Given the description of an element on the screen output the (x, y) to click on. 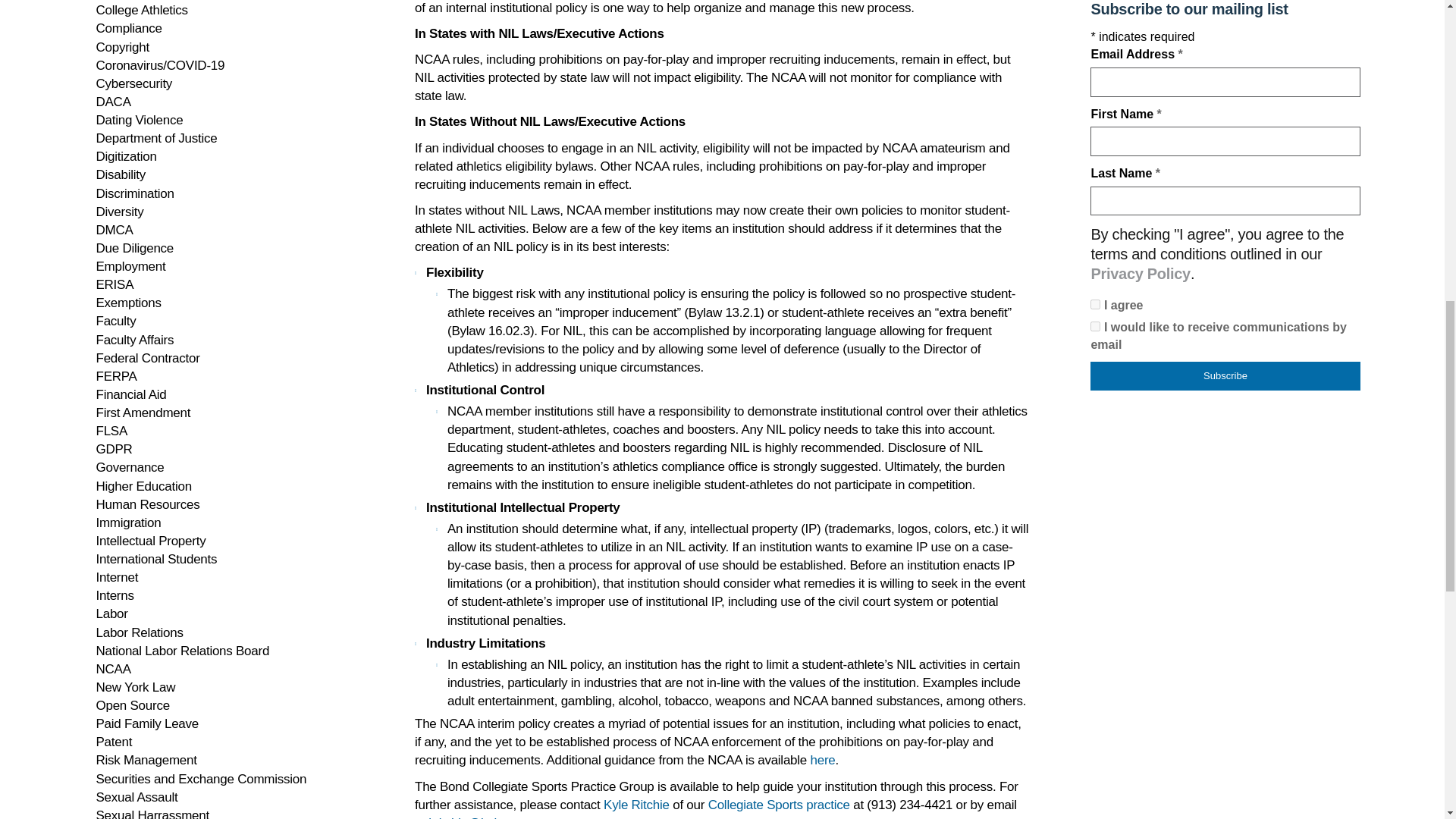
Y (1095, 326)
Subscribe (1224, 376)
Y (1095, 304)
